Given the description of an element on the screen output the (x, y) to click on. 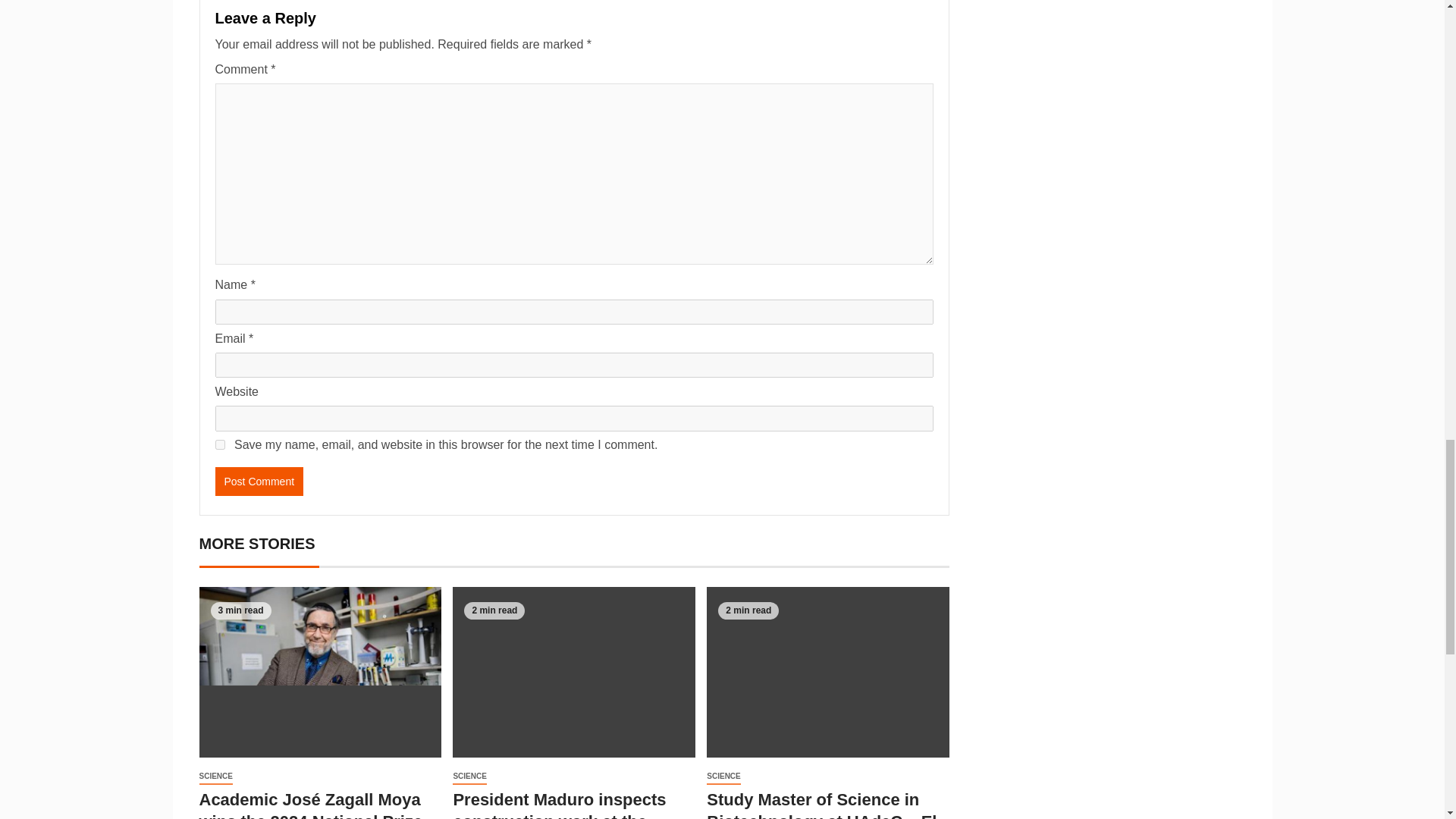
Post Comment (259, 481)
yes (220, 444)
Post Comment (259, 481)
